Given the description of an element on the screen output the (x, y) to click on. 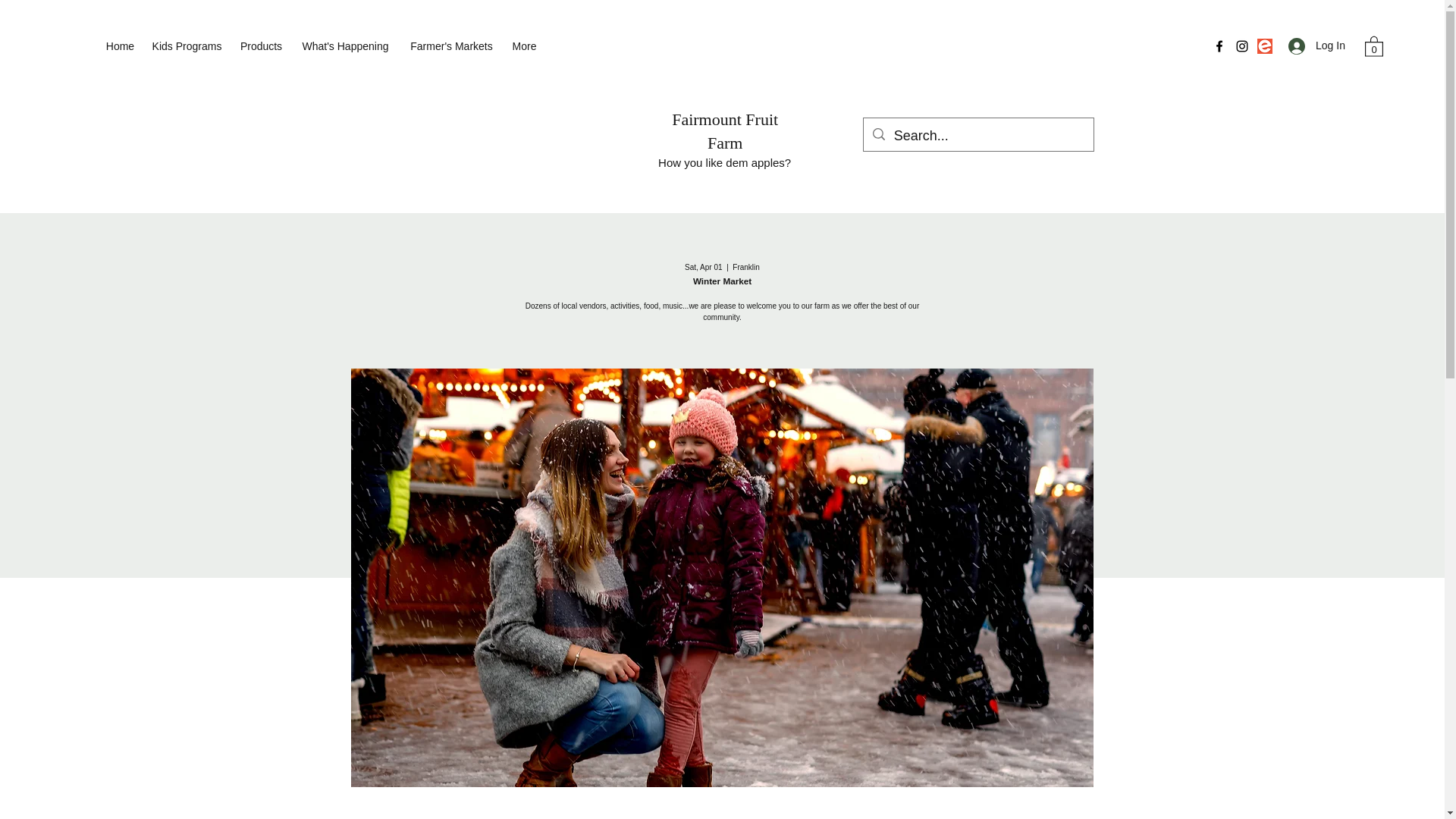
Home (119, 46)
Kids Programs (186, 46)
Log In (1311, 45)
Fairmount Fruit Farm (724, 130)
What's Happening (344, 46)
Farmer's Markets (450, 46)
Products (261, 46)
